Given the description of an element on the screen output the (x, y) to click on. 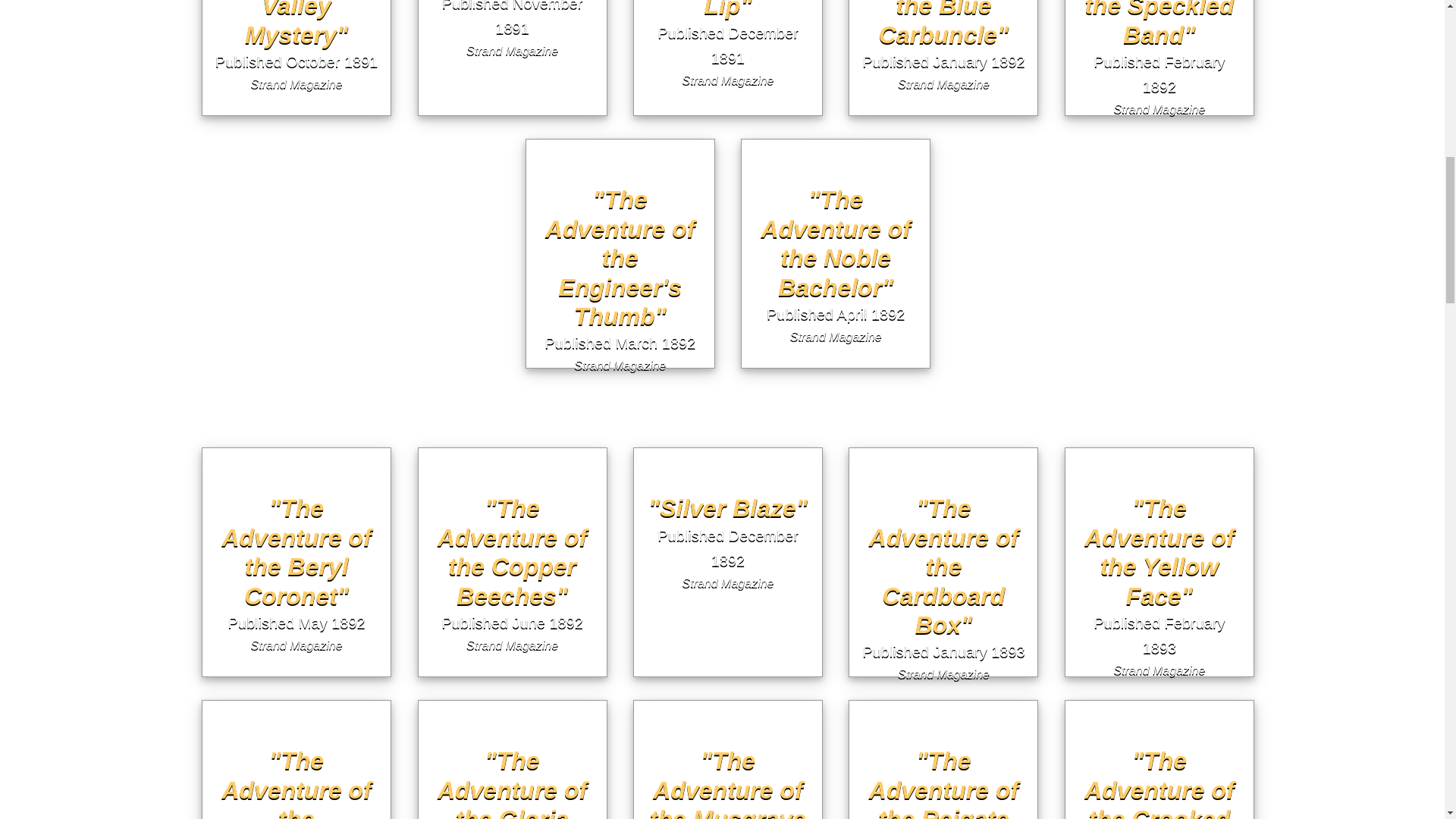
The Adventure of the Noble Bachelor text (835, 133)
The Adventure of the Gloria Scott text (512, 694)
Silver Blaze text (727, 441)
The Adventure of the Copper Beeches text (512, 441)
The Adventure of the Stockbroker's Clerk text (296, 694)
